Given the description of an element on the screen output the (x, y) to click on. 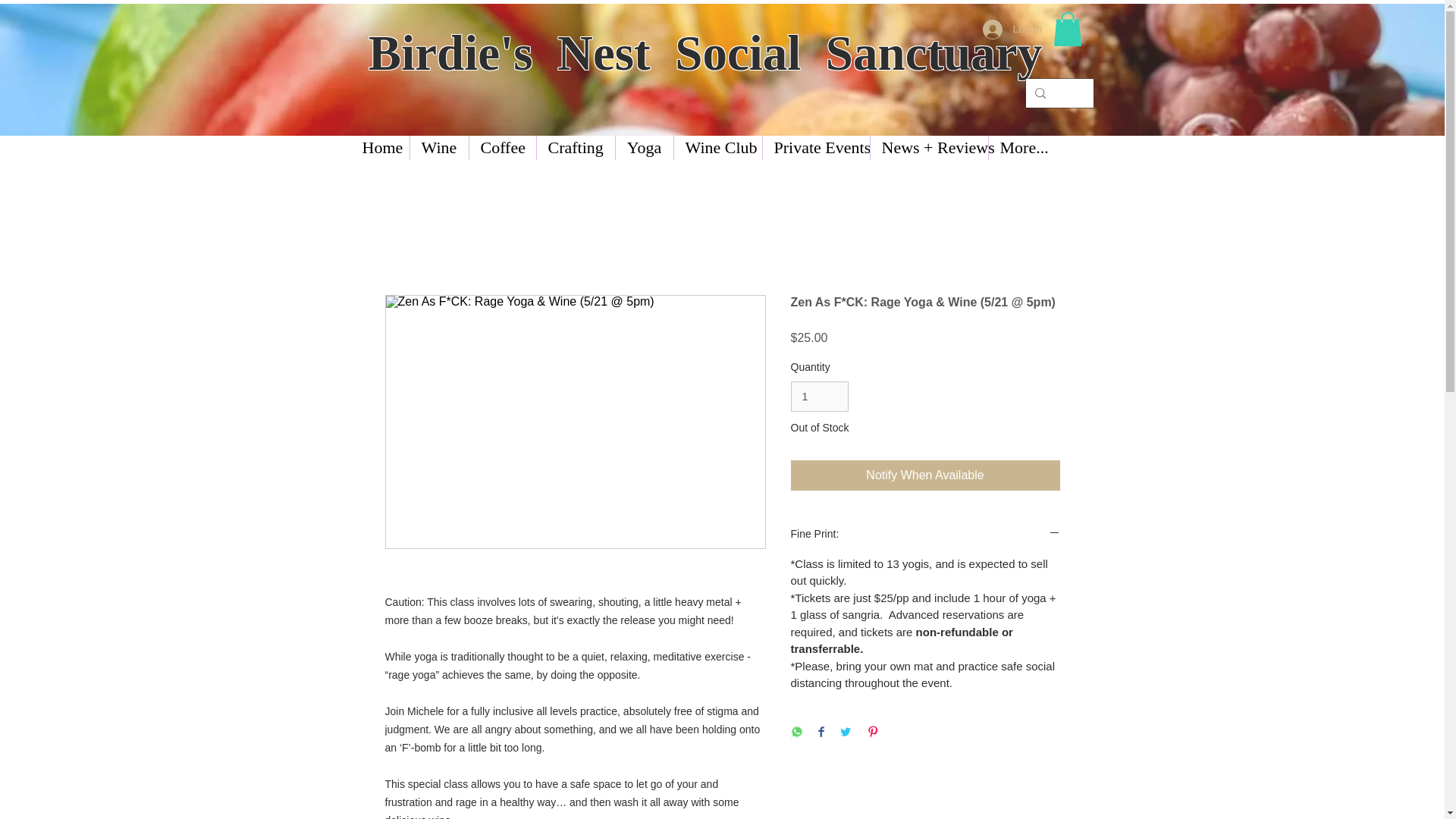
Coffee (478, 147)
Private Events (759, 147)
1 (818, 396)
Wine (424, 147)
Log In (1012, 29)
Home (374, 147)
Fine Print: (924, 534)
Crafting (543, 147)
Notify When Available (924, 475)
Yoga (603, 147)
